Given the description of an element on the screen output the (x, y) to click on. 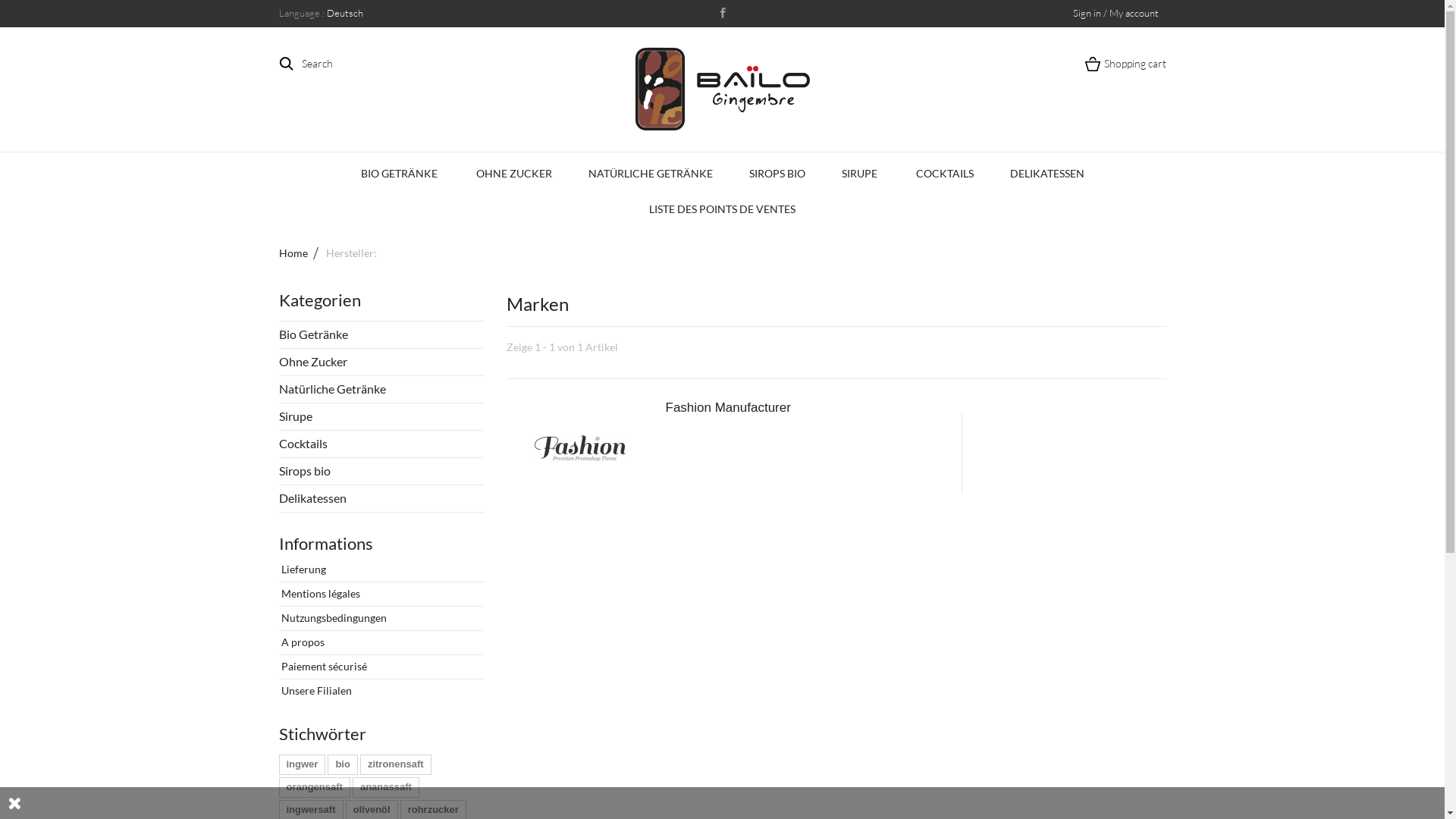
Informations Element type: text (326, 543)
DELIKATESSEN Element type: text (1046, 173)
Nutzungsbedingungen Element type: text (332, 617)
Ohne Zucker Element type: text (381, 361)
Cocktails Element type: text (381, 443)
OHNE ZUCKER Element type: text (514, 173)
orangensaft Element type: text (314, 787)
A propos Element type: text (301, 641)
LISTE DES POINTS DE VENTES Element type: text (721, 209)
bio Element type: text (342, 764)
Delikatessen Element type: text (381, 498)
Home Element type: text (301, 252)
zitronensaft Element type: text (395, 764)
SIROPS BIO Element type: text (777, 173)
Sirupe Element type: text (381, 416)
Lieferung Element type: text (302, 568)
Sirops bio Element type: text (381, 471)
Unsere Filialen Element type: text (315, 690)
SIRUPE Element type: text (860, 173)
ananassaft Element type: text (385, 787)
COCKTAILS Element type: text (944, 173)
ingwer Element type: text (302, 764)
